Given the description of an element on the screen output the (x, y) to click on. 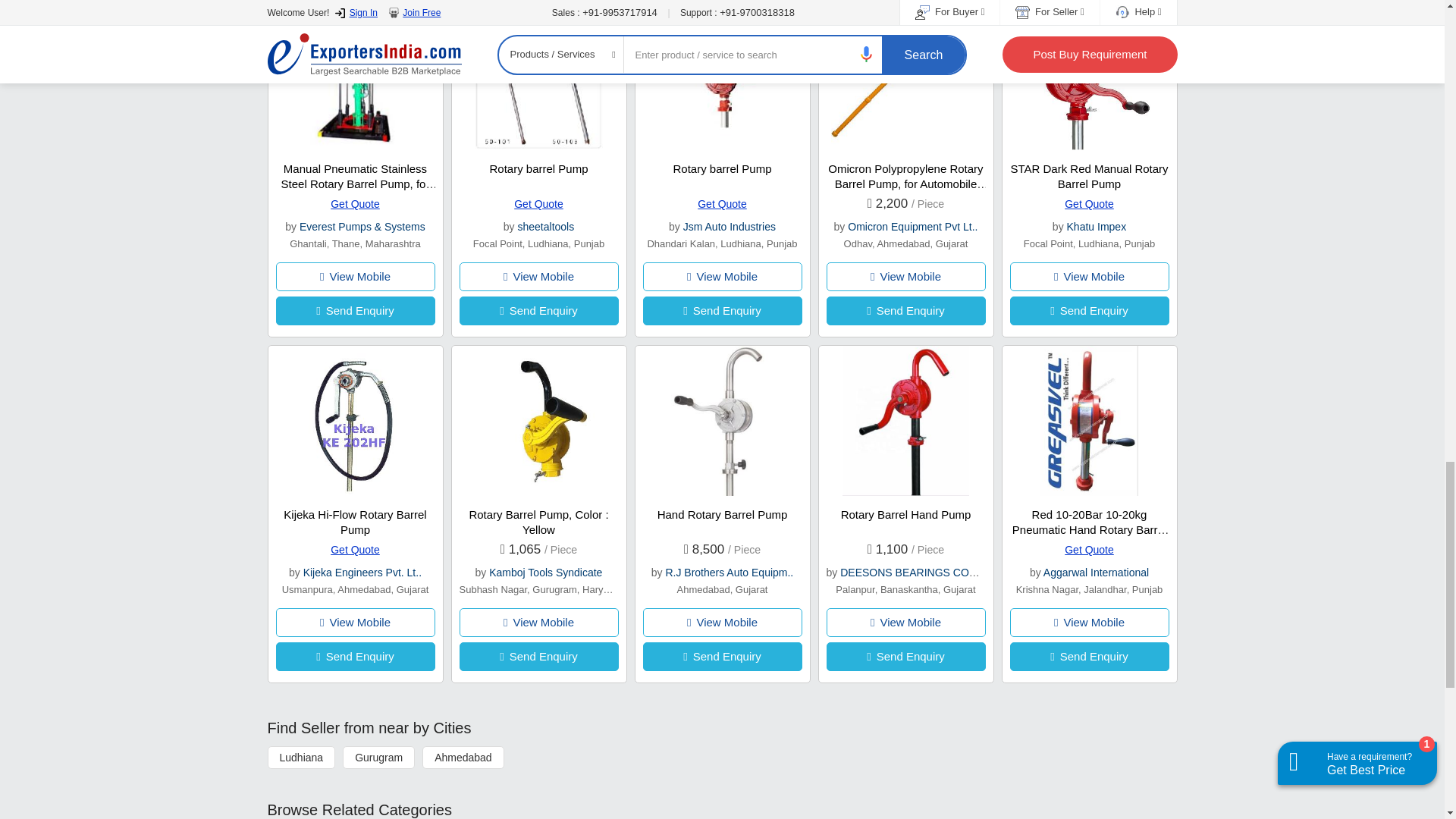
Rotary Barrel Hand Pump (906, 513)
Rotary barrel Pump (721, 168)
Kijeka Hi-Flow Rotary Barrel Pump (354, 521)
STAR Dark Red Manual Rotary Barrel Pump (1088, 176)
Rotary Barrel Pump, Color : Yellow (538, 521)
Hand Rotary Barrel Pump (722, 513)
Rotary barrel Pump (538, 168)
